Given the description of an element on the screen output the (x, y) to click on. 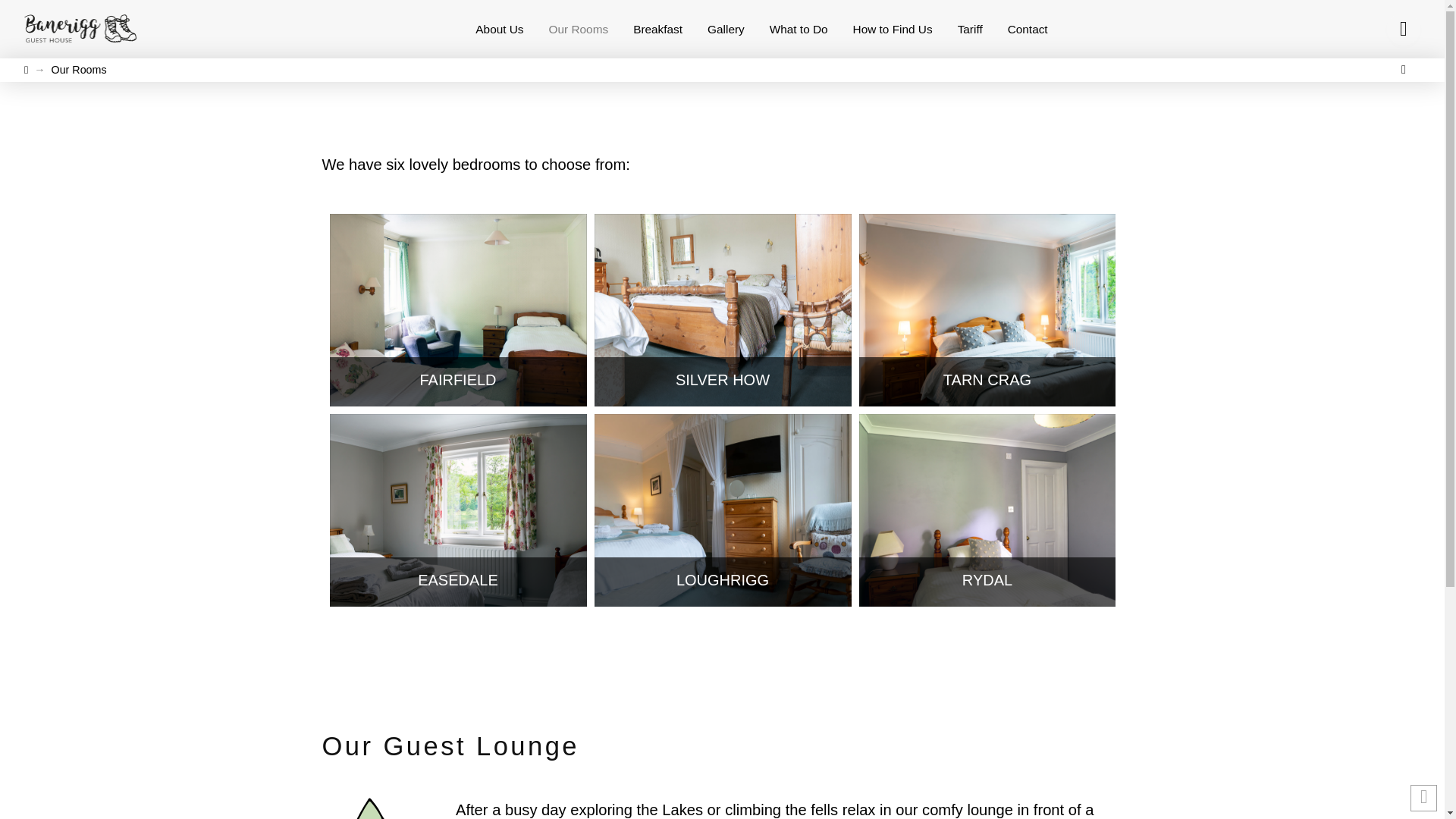
SILVER HOW (722, 387)
What to Do (798, 29)
Our Rooms (78, 69)
EASEDALE (457, 587)
Breakfast (658, 29)
FAIRFIELD (457, 387)
How to Find Us (892, 29)
Contact (1026, 29)
Gallery (726, 29)
You Are Here (78, 69)
